Given the description of an element on the screen output the (x, y) to click on. 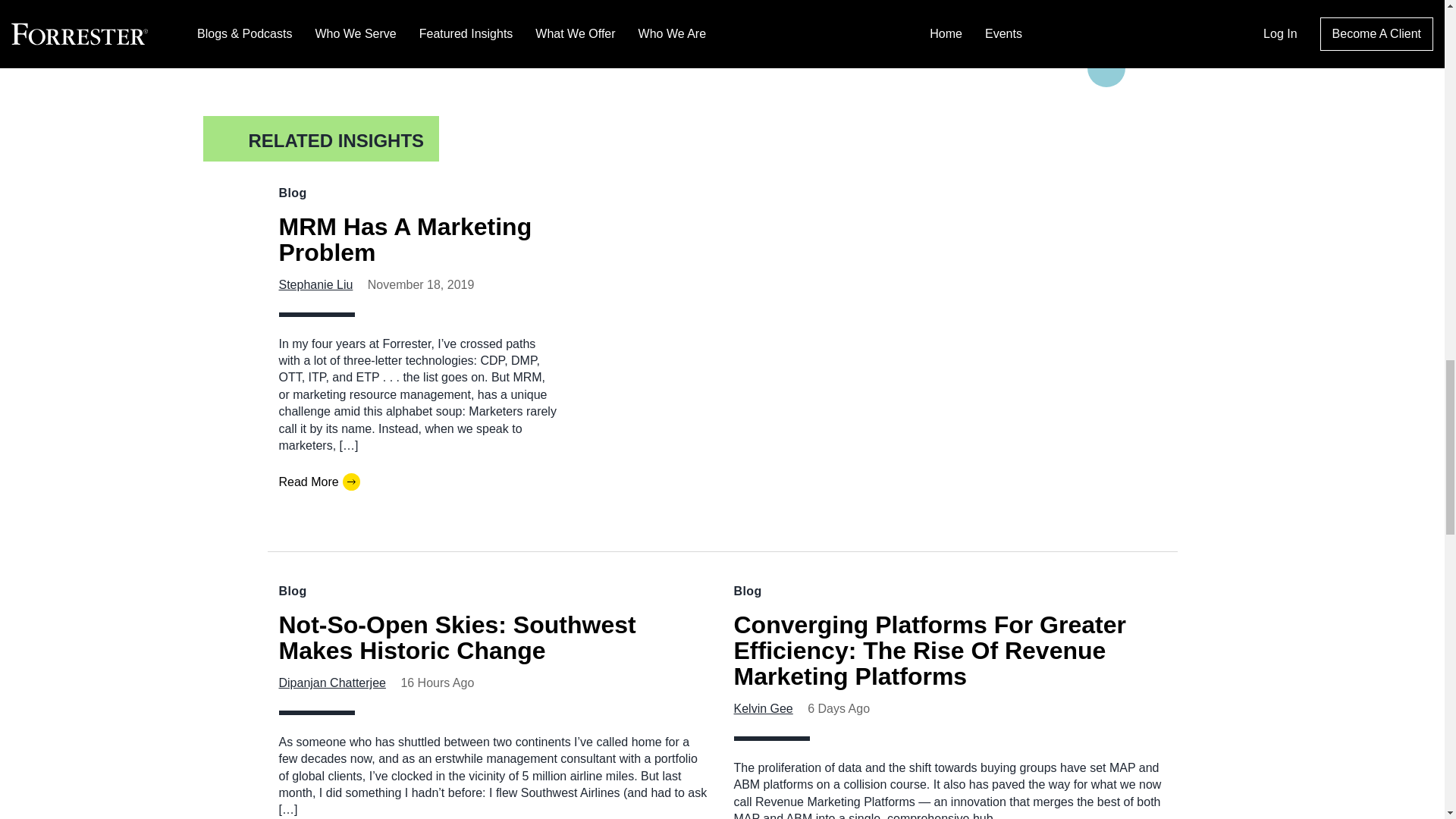
Stephanie Liu (316, 284)
Dipanjan Chatterjee (332, 682)
Kelvin Gee (763, 707)
